Given the description of an element on the screen output the (x, y) to click on. 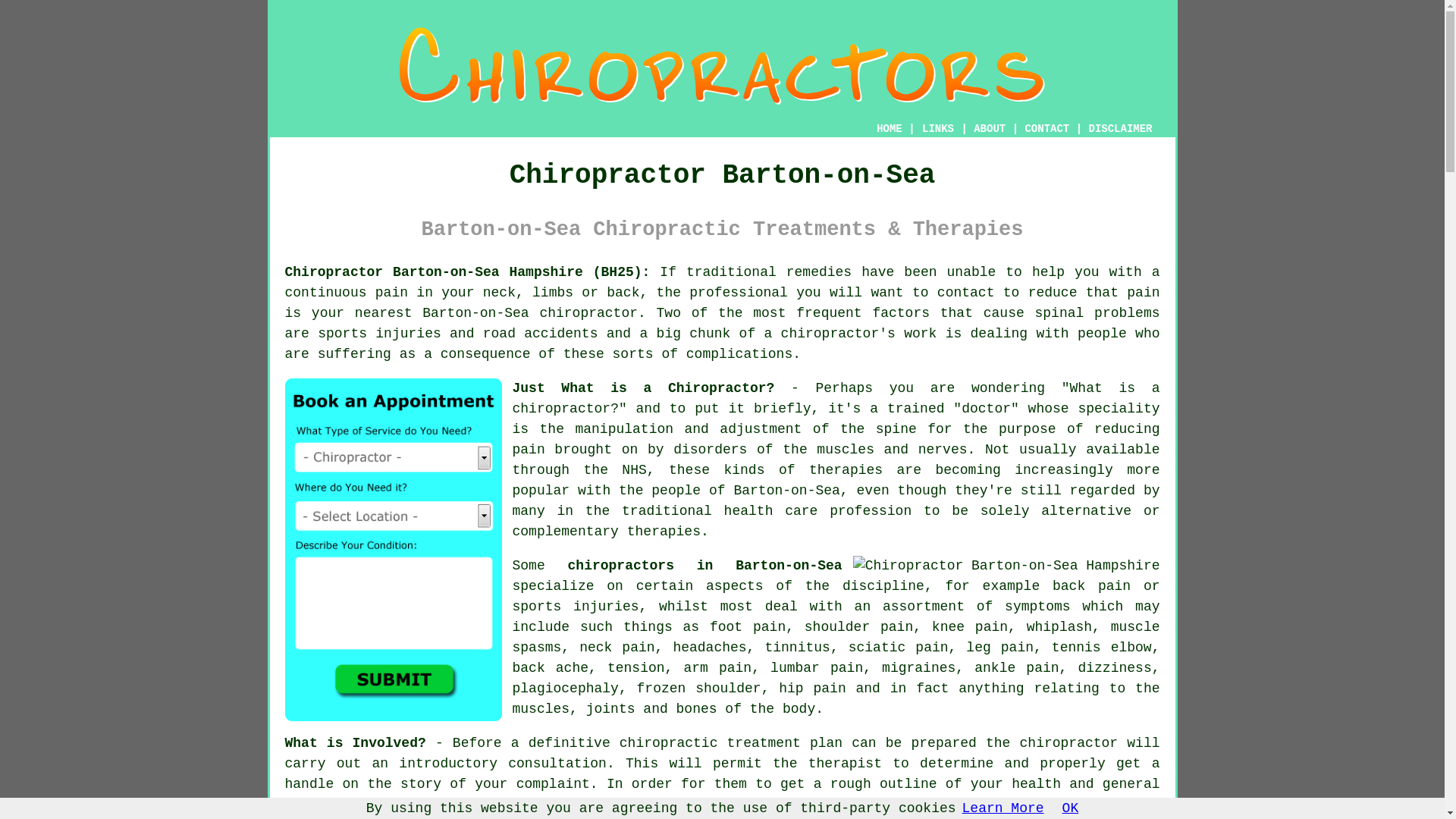
Chiropractor Barton-on-Sea Hampshire (721, 66)
the body (782, 708)
Chiropractor Barton-on-Sea Hampshire (1006, 566)
HOME (889, 128)
neck pain (616, 647)
tennis elbow (1101, 647)
What is Involved? (355, 743)
of the spine (864, 428)
chiropractors in Barton-on-Sea (705, 565)
tinnitus (796, 647)
